Given the description of an element on the screen output the (x, y) to click on. 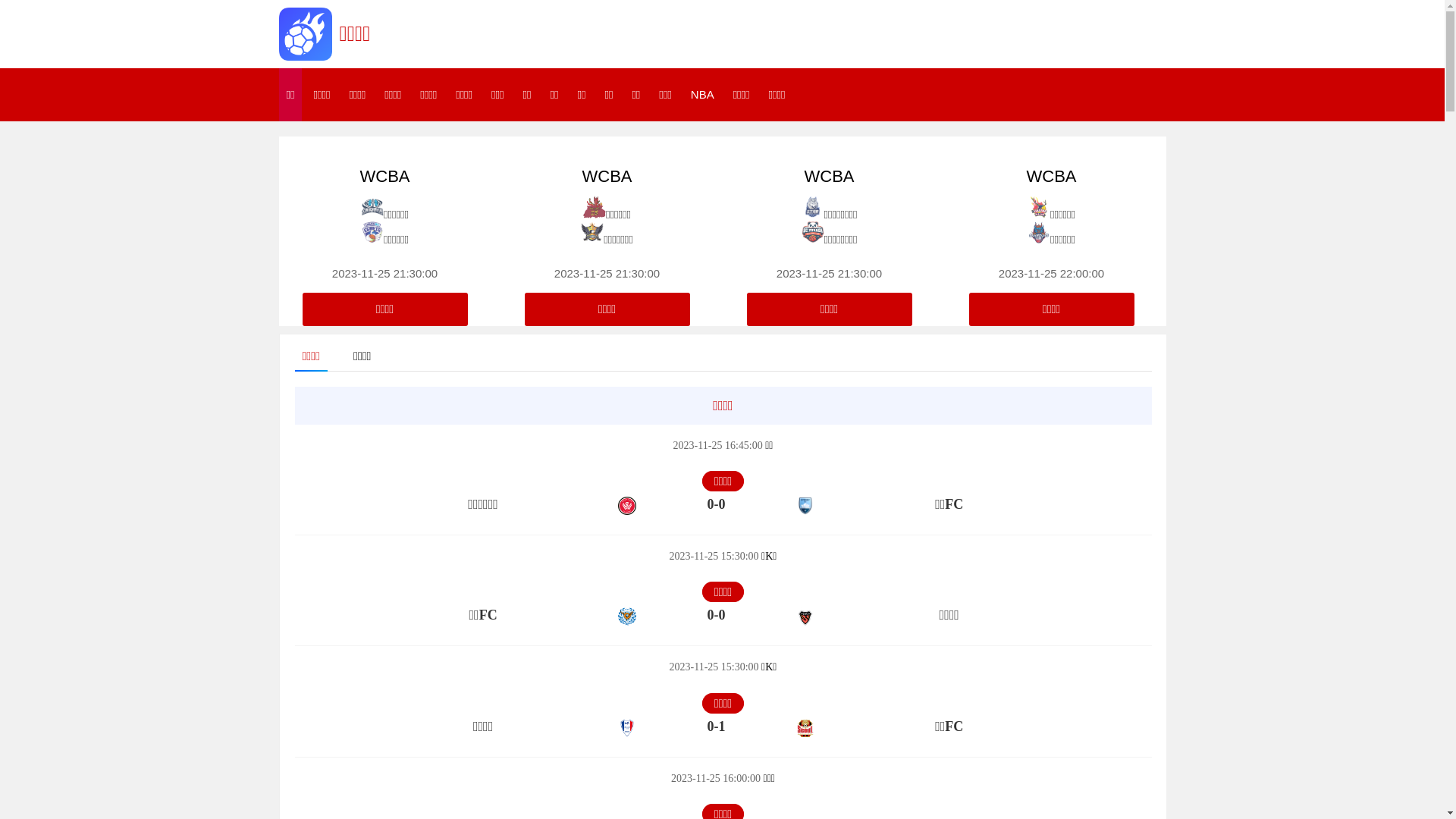
NBA Element type: text (702, 94)
